Given the description of an element on the screen output the (x, y) to click on. 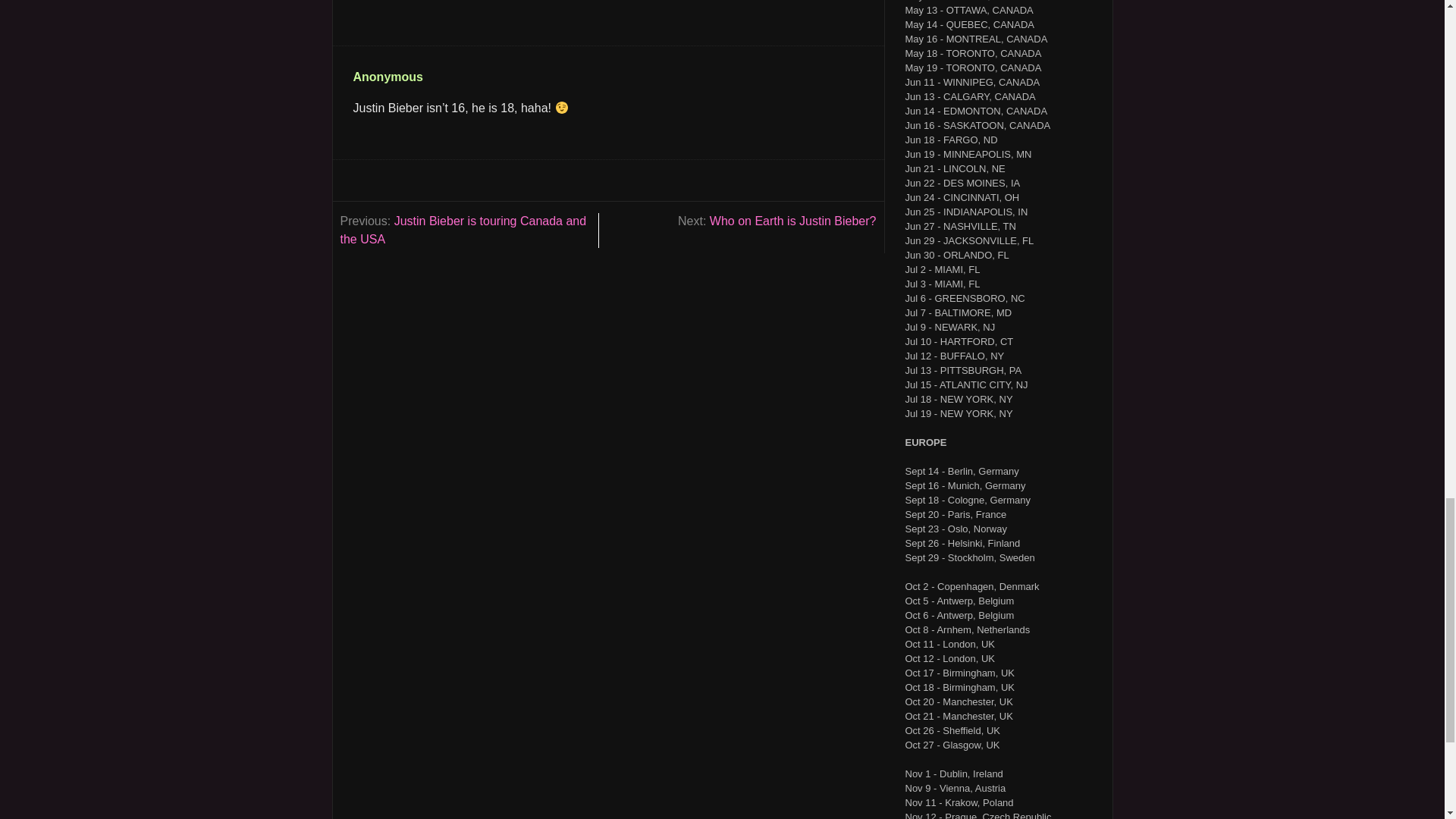
Who on Earth is Justin Bieber? (793, 220)
Justin Bieber is touring Canada and the USA (462, 229)
